Given the description of an element on the screen output the (x, y) to click on. 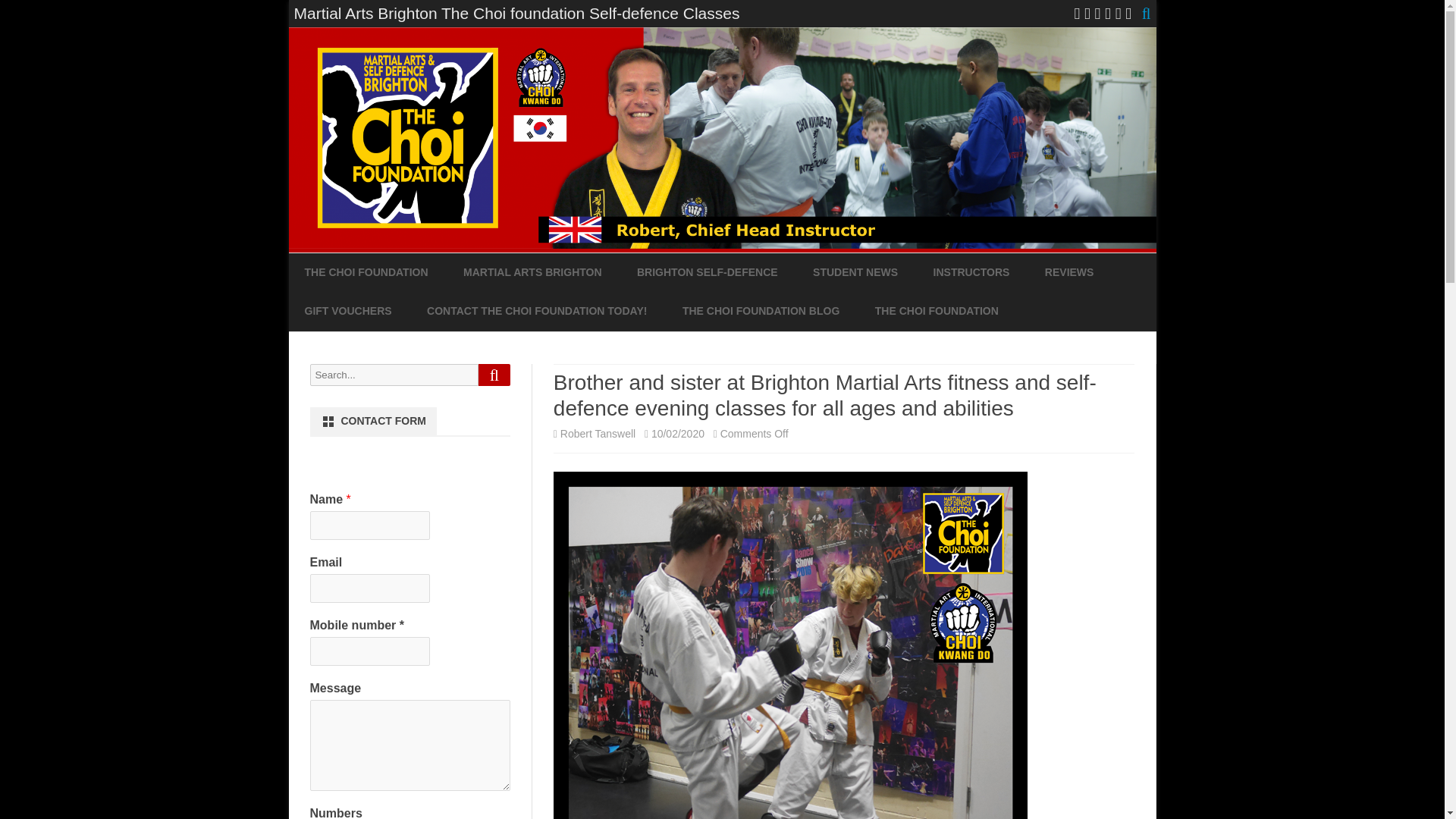
Robert Tanswell (597, 433)
BRIGHTON SELF-DEFENCE (707, 272)
INSTRUCTORS (971, 272)
REVIEWS (1069, 272)
GIFT VOUCHERS (347, 311)
STUDENT NEWS (855, 272)
MARTIAL ARTS BRIGHTON (532, 272)
THE CHOI FOUNDATION (366, 272)
THE CHOI FOUNDATION BLOG (761, 311)
CONTACT THE CHOI FOUNDATION TODAY! (536, 311)
THE CHOI FOUNDATION (936, 311)
